Given the description of an element on the screen output the (x, y) to click on. 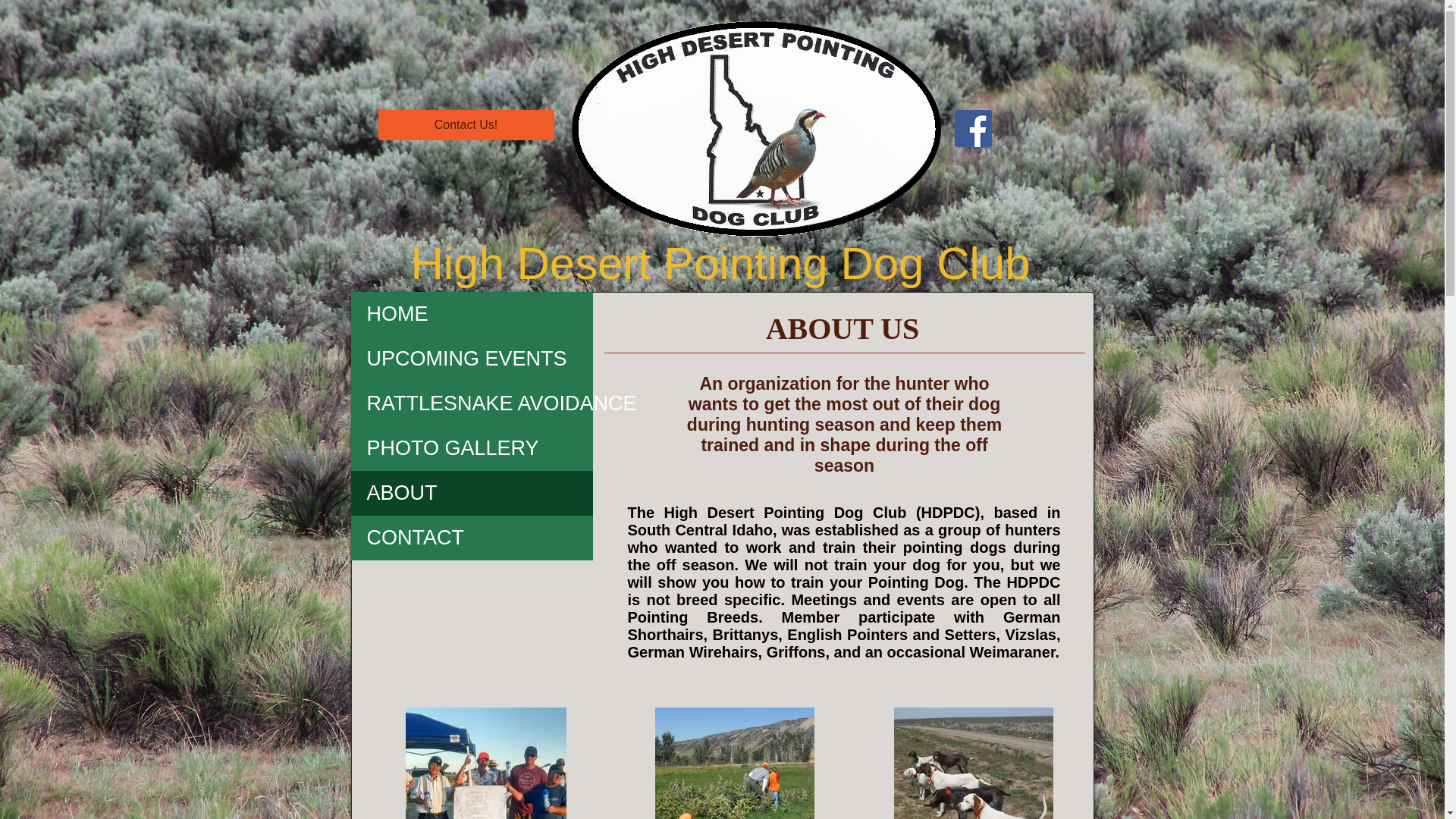
The Youth Hunt at Niagra Springs WMA (734, 763)
ABOUT (471, 492)
CONTACT (471, 537)
HOME (471, 313)
High Desert Pointing Dog Club (719, 263)
PHOTO GALLERY (471, 447)
UPCOMING EVENTS (471, 358)
RATTLESNAKE AVOIDANCE (471, 403)
Contact Us! (465, 124)
